Given the description of an element on the screen output the (x, y) to click on. 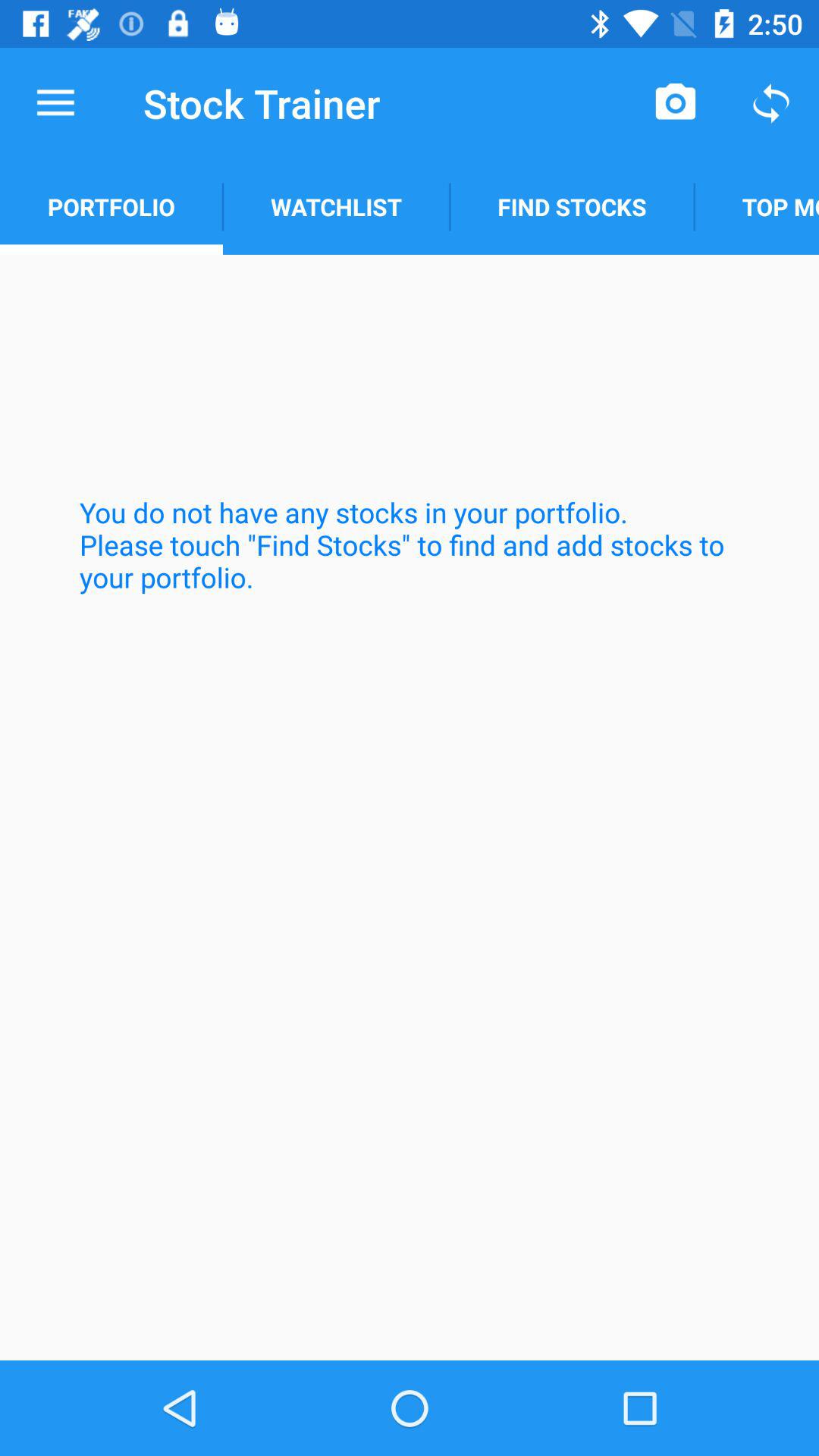
turn off the top movers (756, 206)
